Given the description of an element on the screen output the (x, y) to click on. 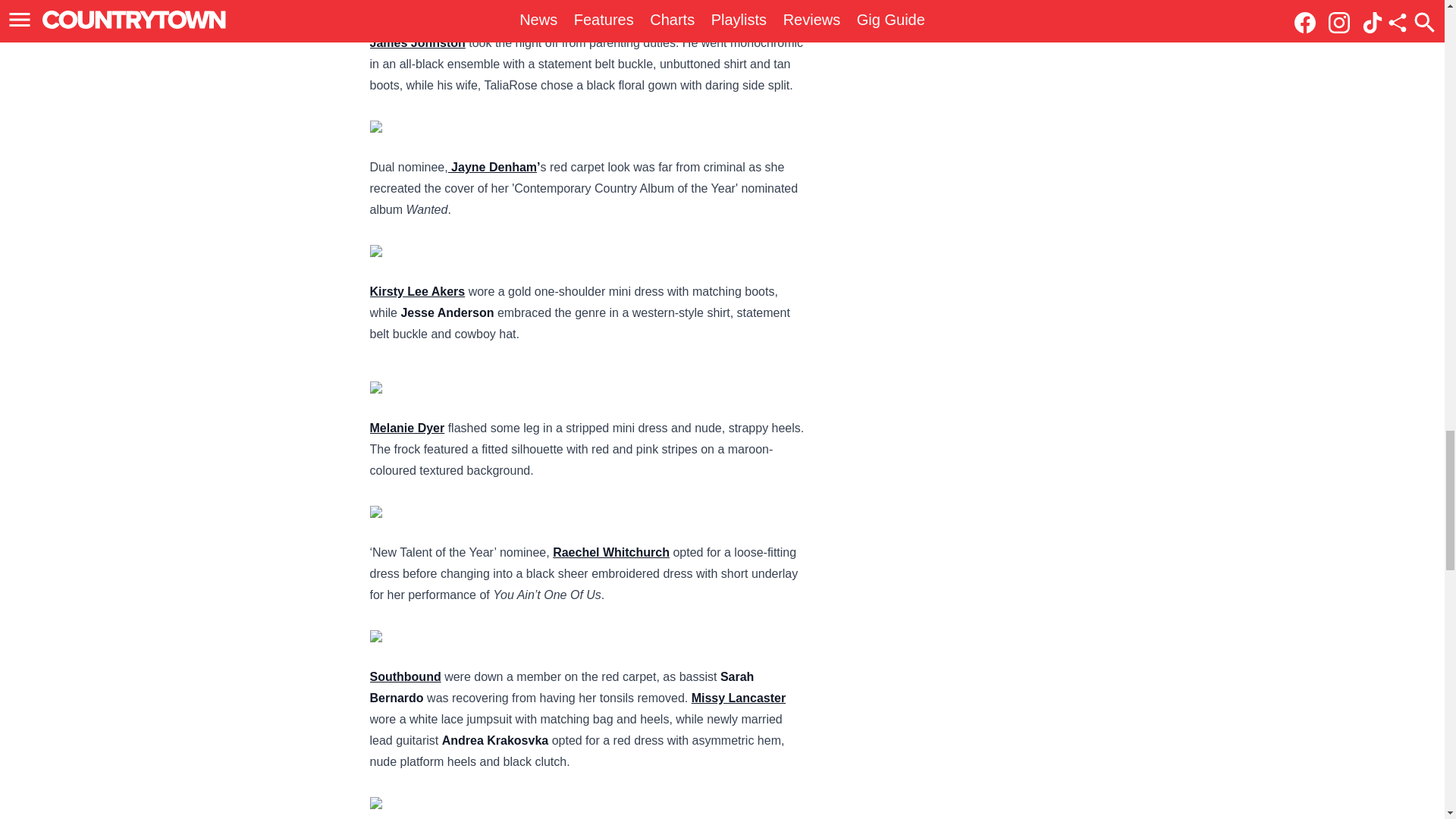
Raechel Whitchurch (611, 552)
Kirsty Lee Akers (417, 291)
Southbound (405, 676)
Missy Lancaster (738, 697)
Melanie Dyer (407, 427)
James Johnston (417, 42)
 Jayne Denham (492, 166)
